Given the description of an element on the screen output the (x, y) to click on. 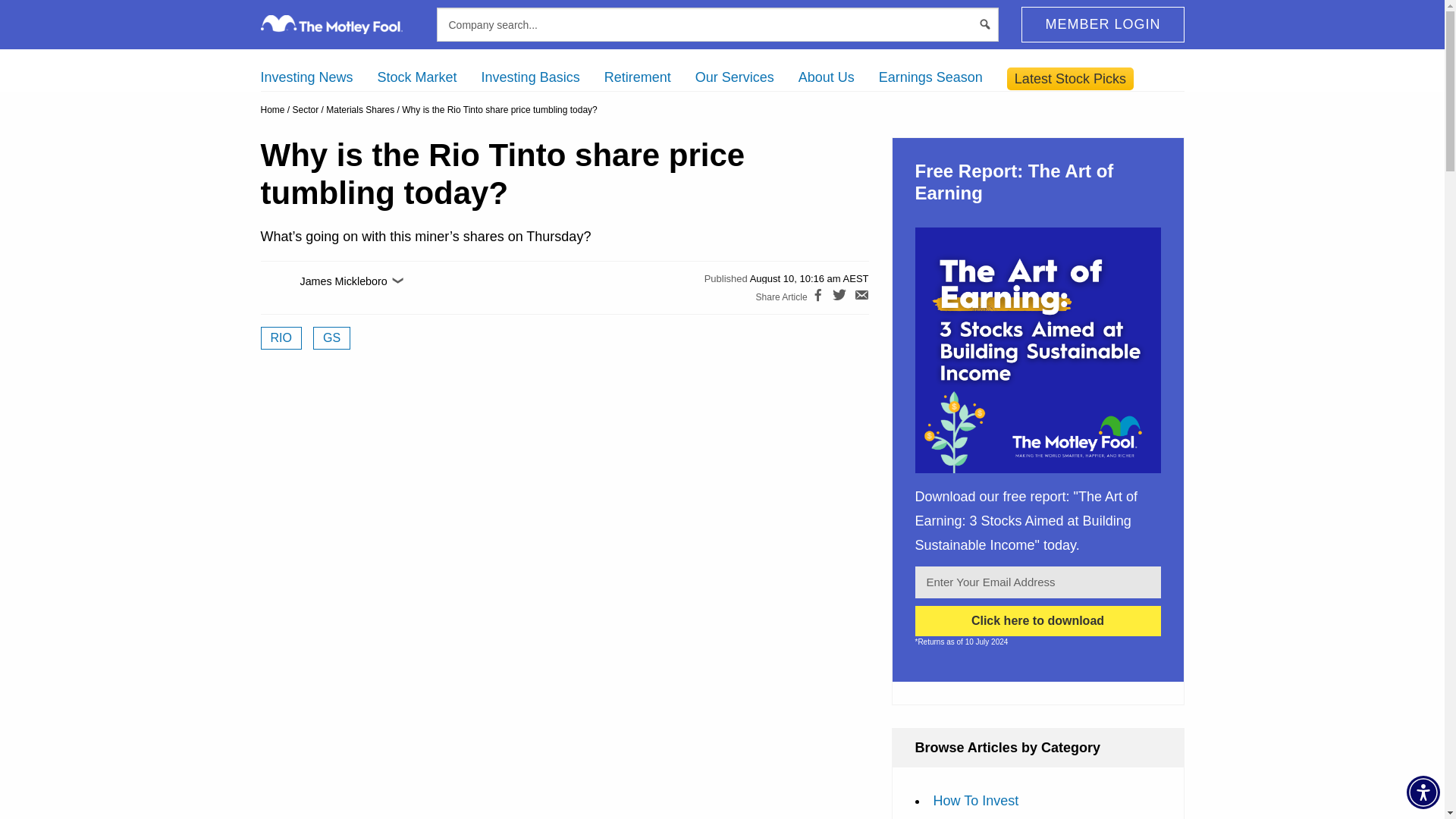
MEMBER LOGIN (1102, 24)
James Mickleboro (274, 287)
Investing News (306, 78)
See more articles about GS (331, 337)
Accessibility Menu (1422, 792)
See more articles about RIO (280, 337)
